Given the description of an element on the screen output the (x, y) to click on. 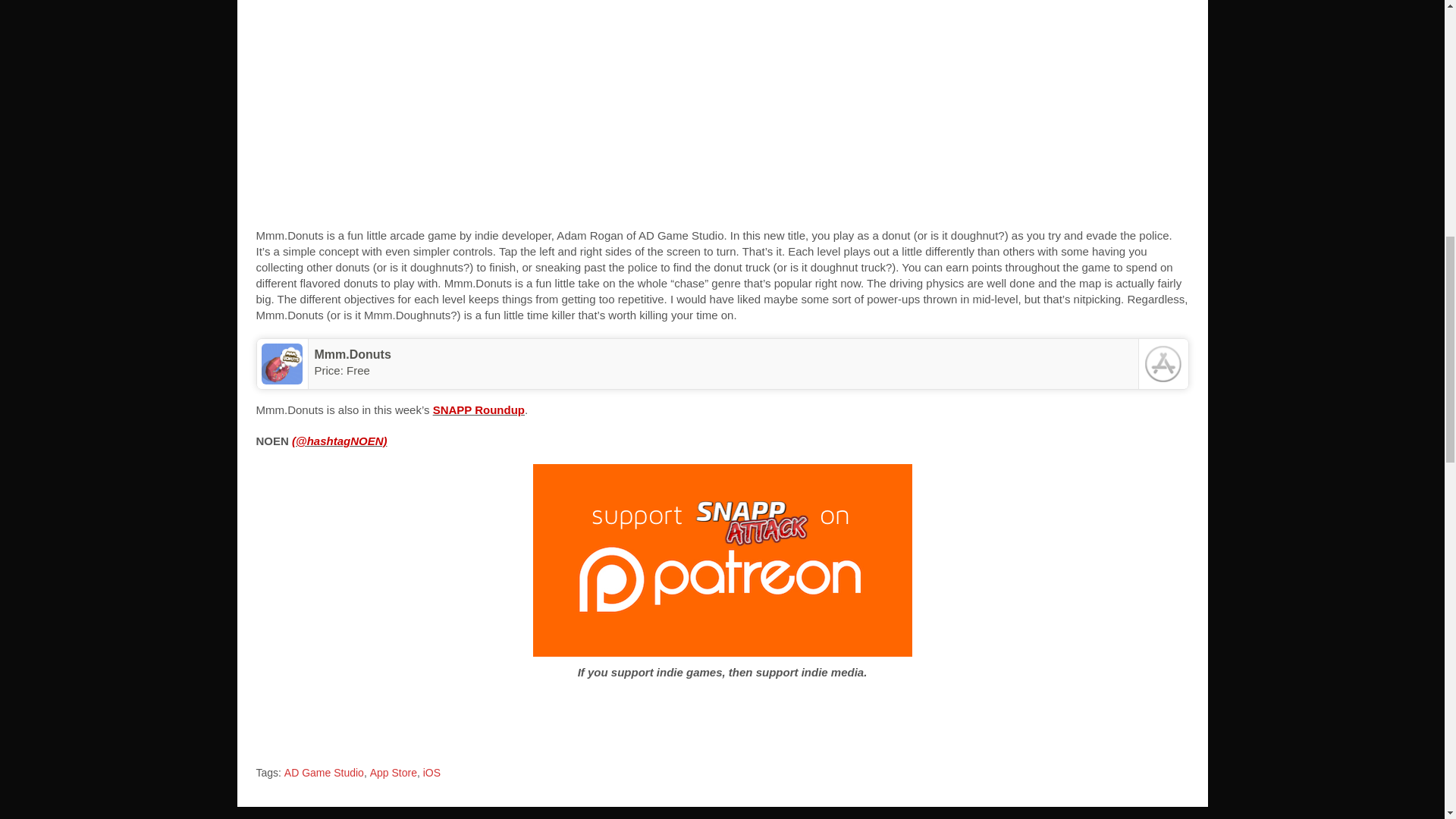
Mmm.Donuts (352, 354)
iOS (432, 773)
SNAPP Roundup (478, 409)
AD Game Studio (323, 773)
App Store (392, 773)
